Given the description of an element on the screen output the (x, y) to click on. 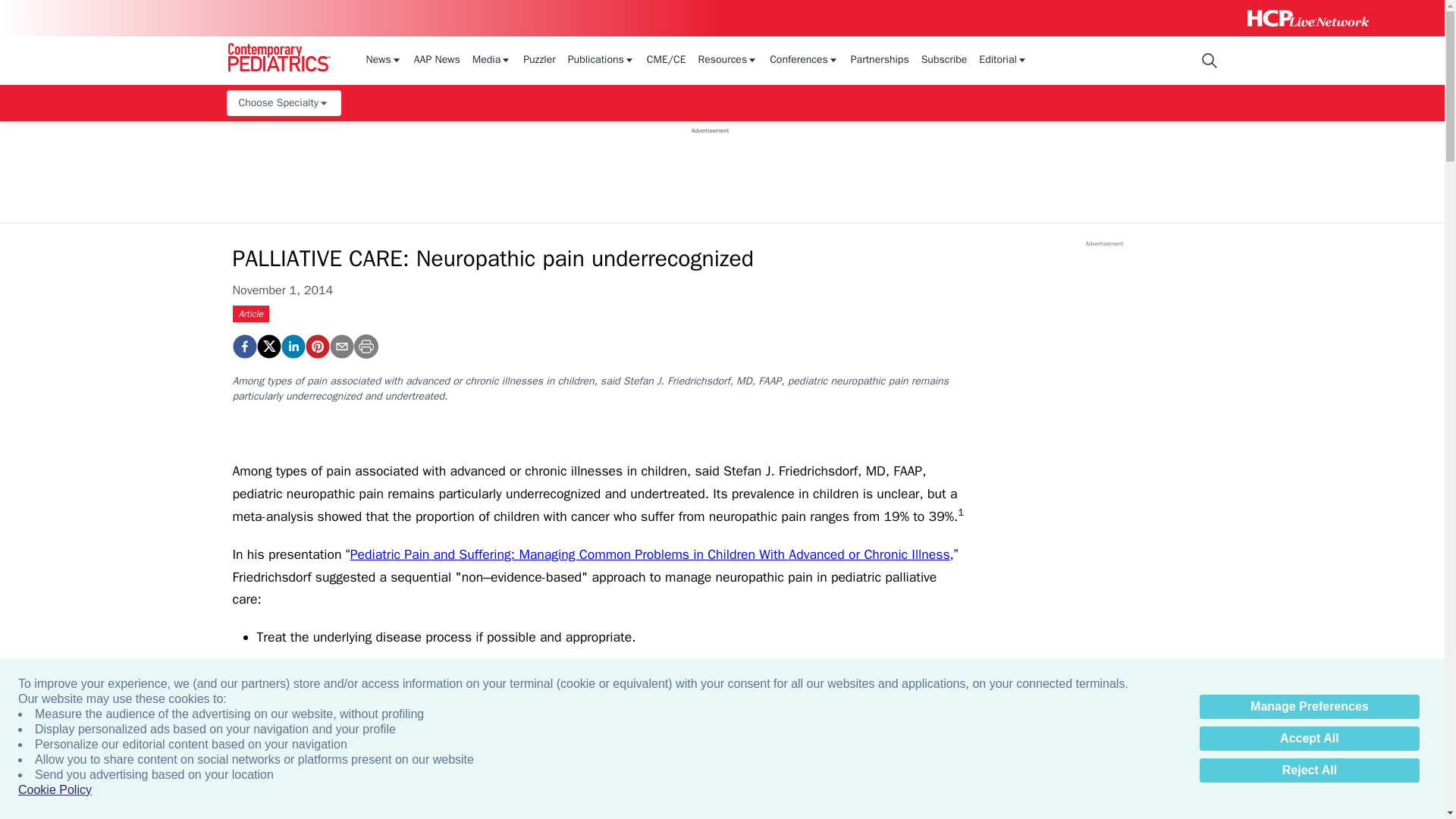
3rd party ad content (710, 169)
Manage Preferences (1309, 706)
Media (491, 60)
Cookie Policy (54, 789)
Accept All (1309, 738)
PALLIATIVE CARE: Neuropathic pain underrecognized (316, 346)
AAP News (436, 60)
Reject All (1309, 769)
PALLIATIVE CARE: Neuropathic pain underrecognized (243, 346)
Puzzler (539, 60)
